Given the description of an element on the screen output the (x, y) to click on. 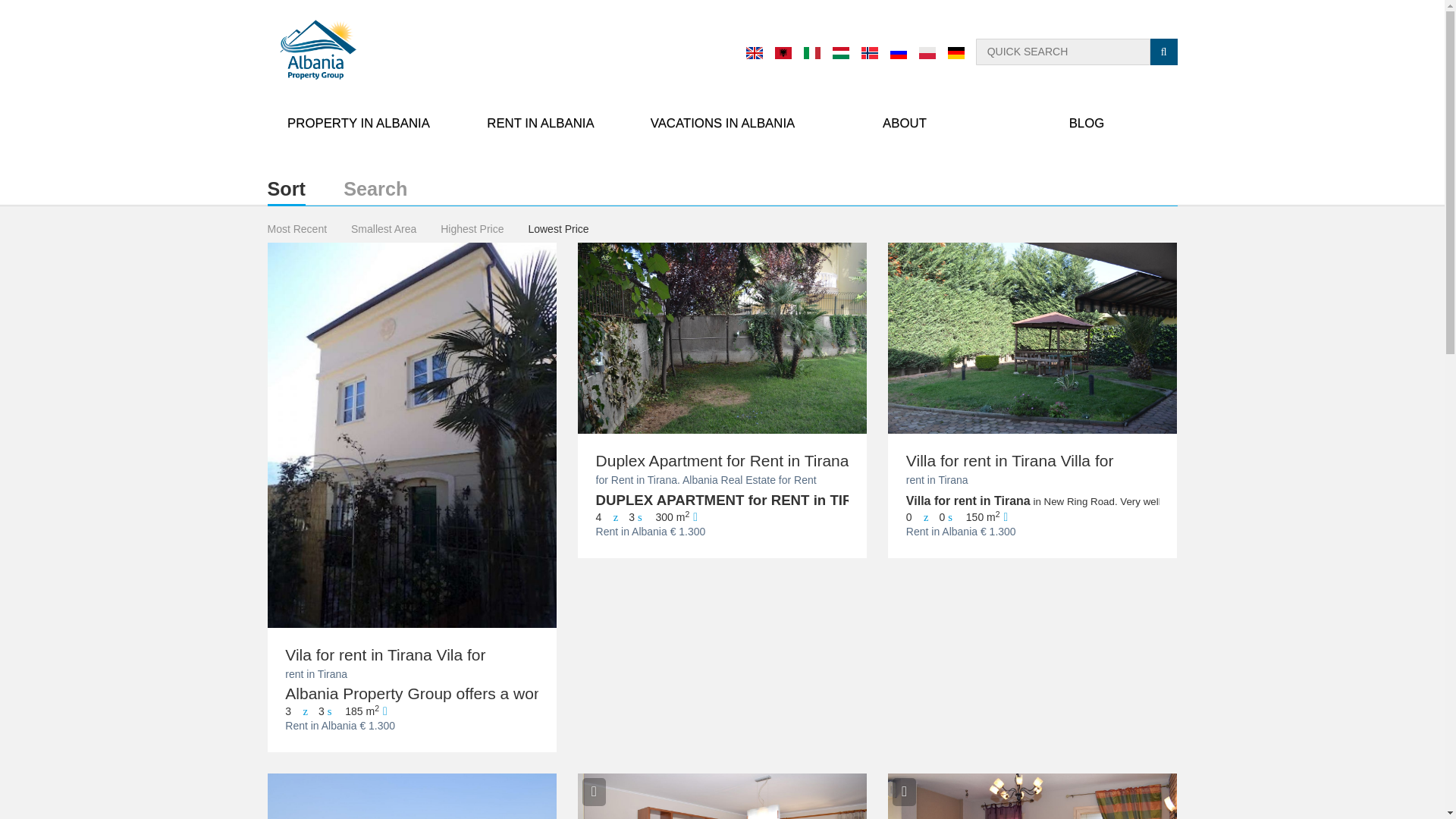
PROPERTY IN ALBANIA (357, 122)
VACATIONS IN ALBANIA (721, 122)
ABOUT (903, 122)
RENT IN ALBANIA (539, 122)
